Given the description of an element on the screen output the (x, y) to click on. 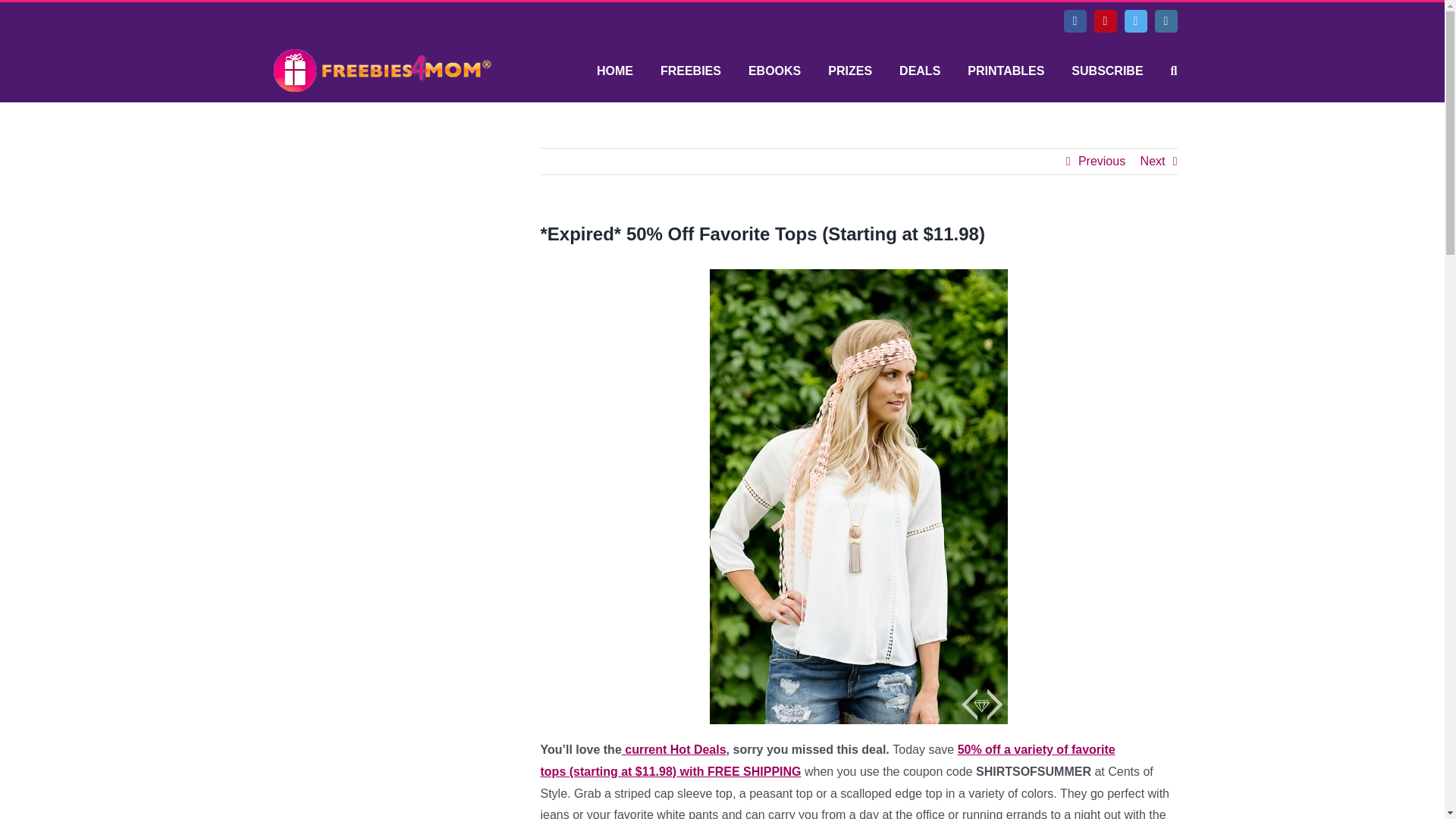
Twitter (1135, 20)
Instagram (1165, 20)
FREEBIES (690, 70)
Instagram (1165, 20)
Twitter (1135, 20)
Facebook (1074, 20)
Pinterest (1104, 20)
Pinterest (1104, 20)
PRINTABLES (1005, 70)
Facebook (1074, 20)
